Given the description of an element on the screen output the (x, y) to click on. 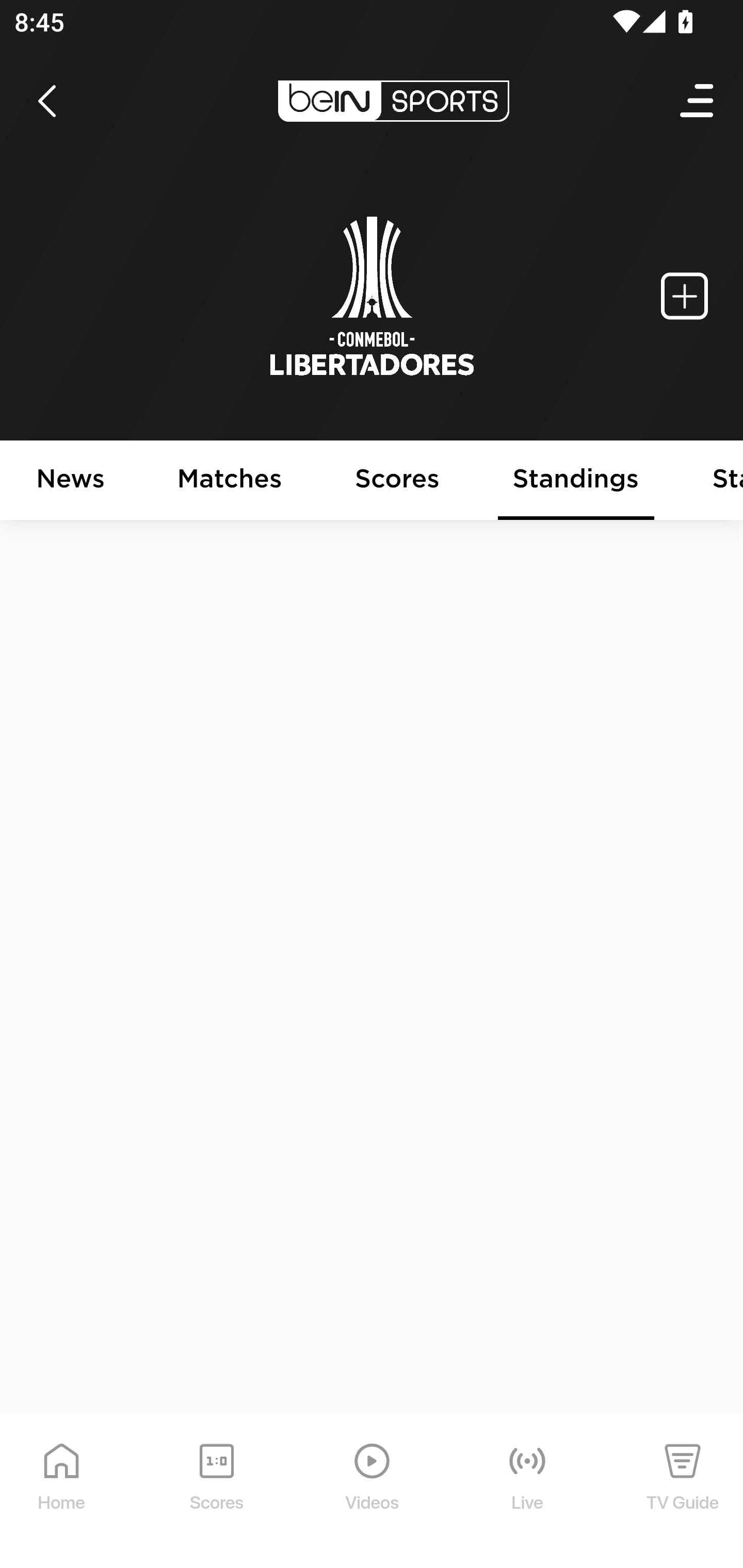
en-us?platform=mobile_android bein logo white (392, 101)
icon back (46, 101)
Open Menu Icon (697, 101)
News (70, 480)
Matches (229, 480)
Scores (397, 480)
Standings (575, 480)
Home Home Icon Home (61, 1491)
Scores Scores Icon Scores (216, 1491)
Videos Videos Icon Videos (372, 1491)
TV Guide TV Guide Icon TV Guide (682, 1491)
